Given the description of an element on the screen output the (x, y) to click on. 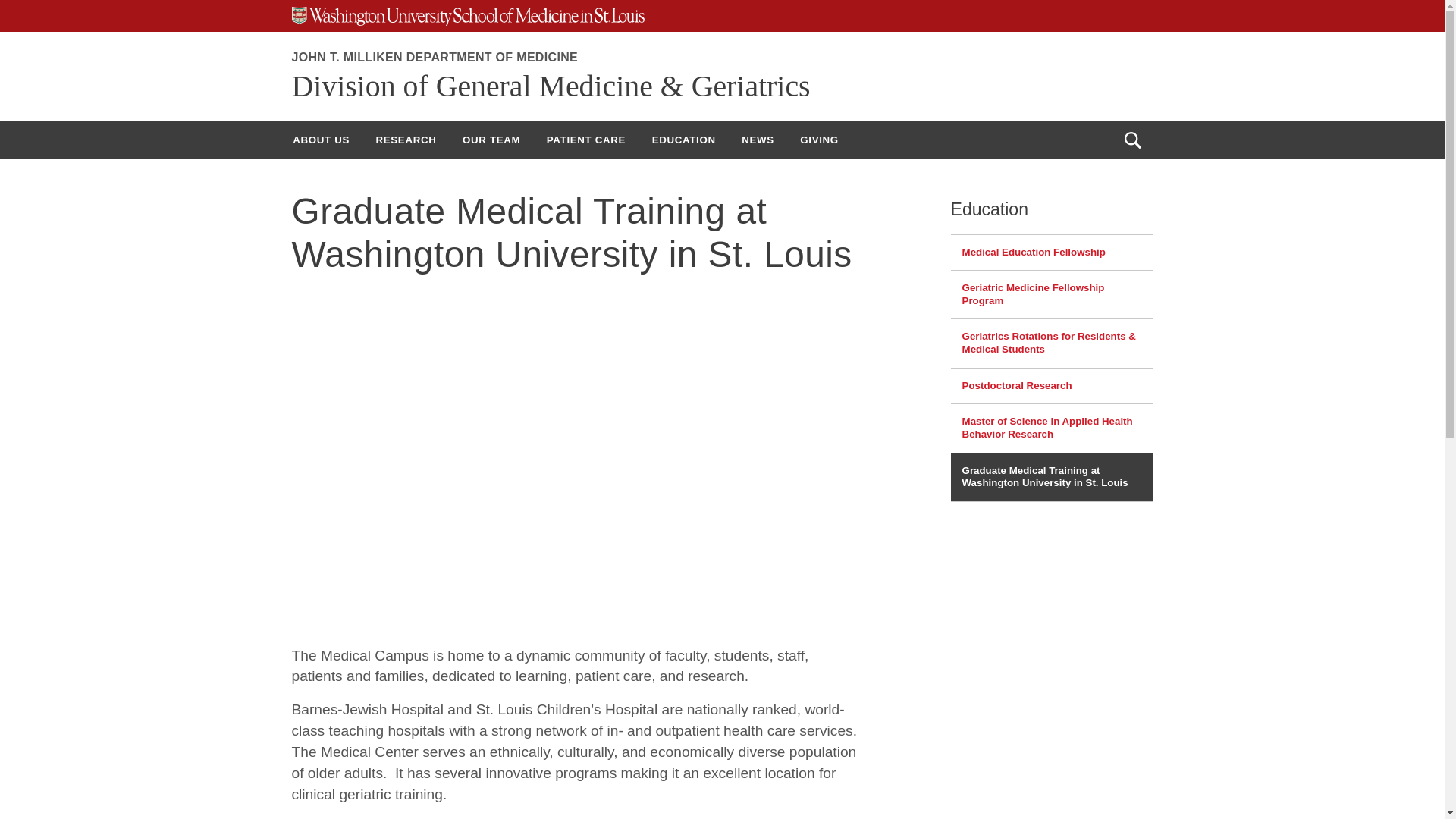
OUR TEAM (491, 139)
RESEARCH (405, 139)
ABOUT US (321, 139)
PATIENT CARE (586, 139)
EDUCATION (683, 139)
